Given the description of an element on the screen output the (x, y) to click on. 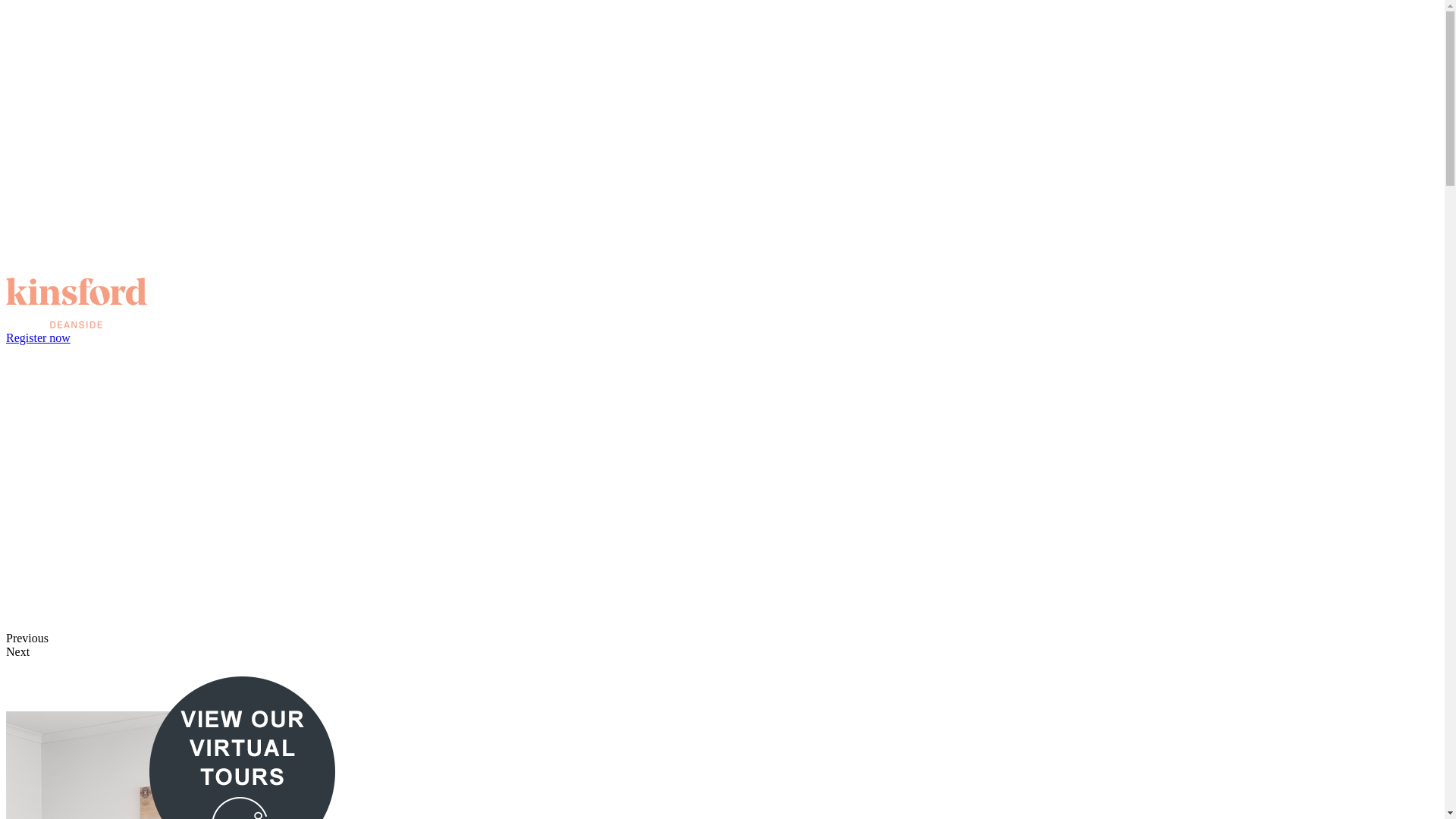
Soho_Quality_Project_Lockup_L_CMYK_white Element type: hover (453, 140)
Register now Element type: text (38, 337)
